Given the description of an element on the screen output the (x, y) to click on. 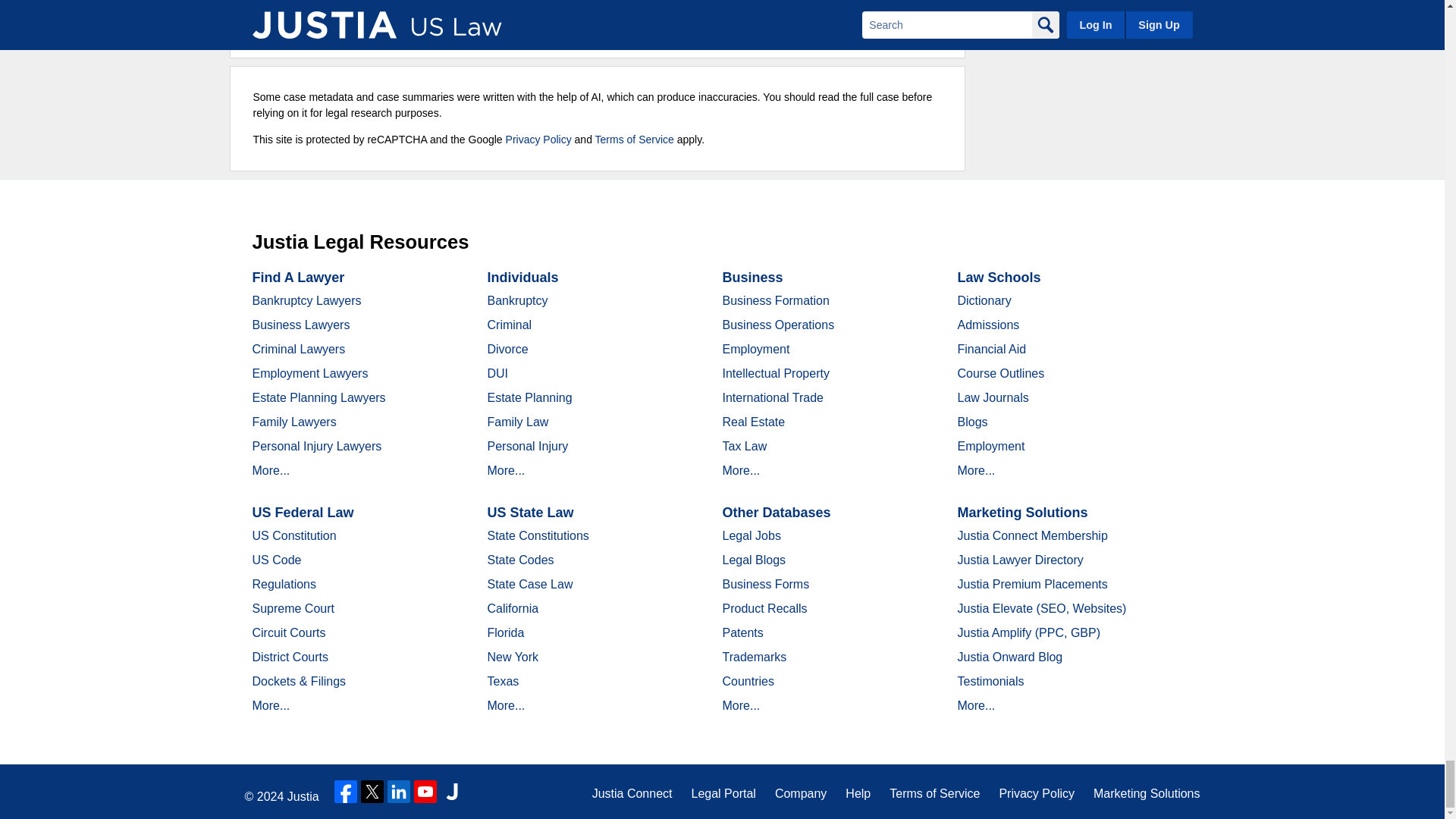
Facebook (345, 791)
Twitter (372, 791)
LinkedIn (398, 791)
